Given the description of an element on the screen output the (x, y) to click on. 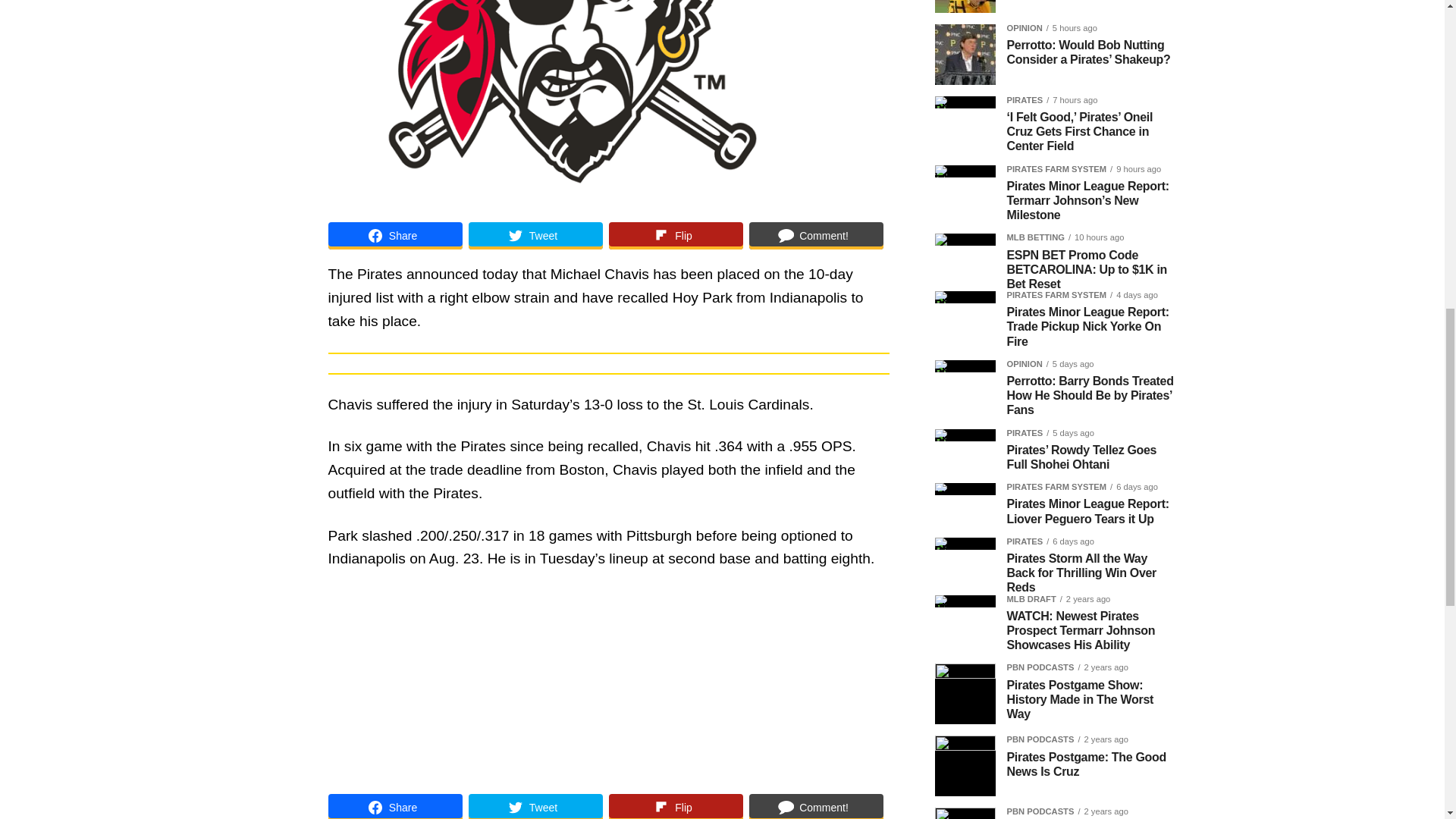
Share on Flip (675, 235)
Share on Tweet (535, 806)
Share on Comment! (816, 235)
Share on Flip (675, 806)
Share on Share (394, 235)
Share on Comment! (816, 806)
Share on Share (394, 806)
Share on Tweet (535, 235)
